Given the description of an element on the screen output the (x, y) to click on. 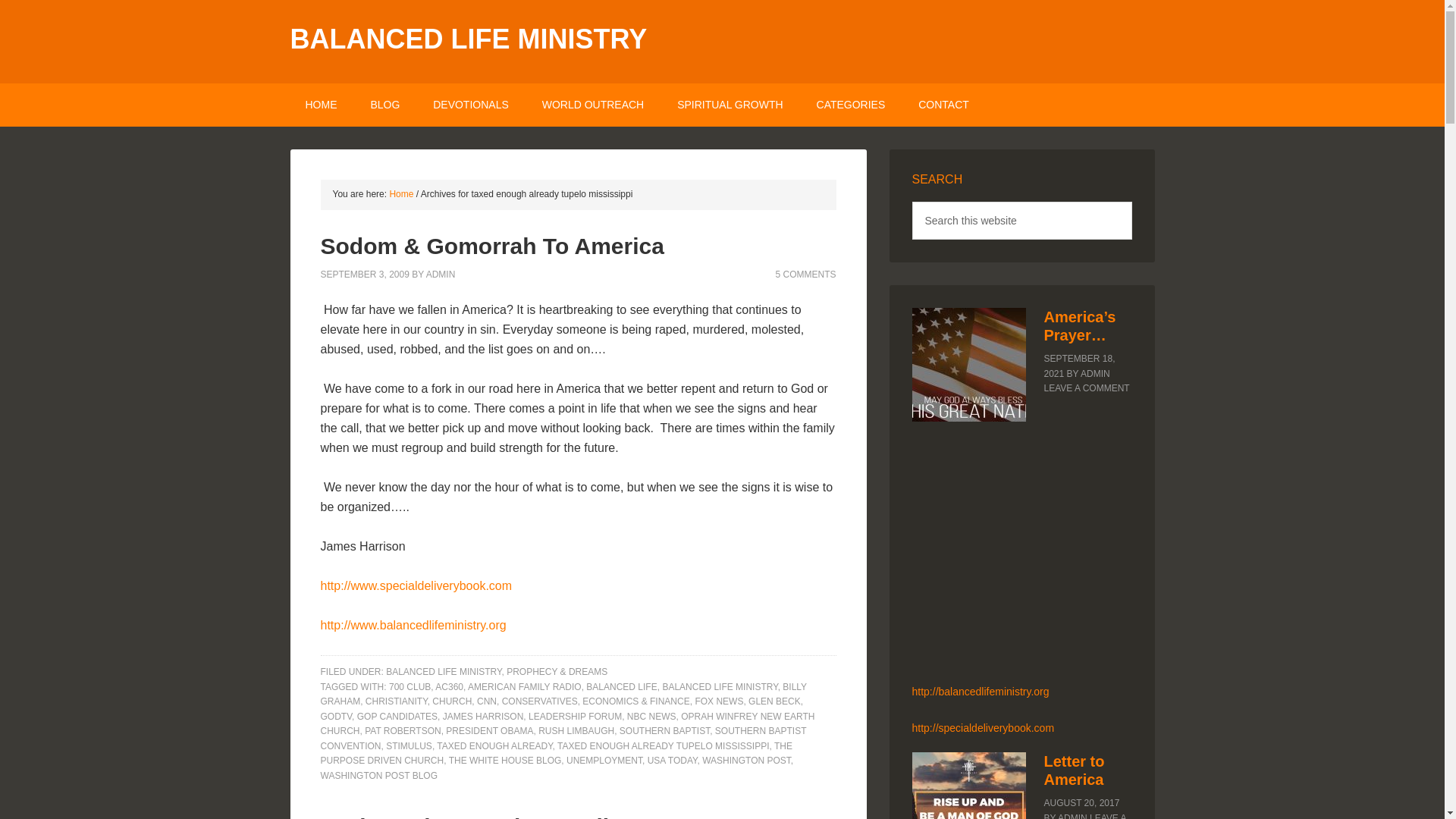
CONTACT (943, 104)
WORLD OUTREACH (593, 104)
CATEGORIES (851, 104)
BALANCED LIFE MINISTRY (442, 671)
Home (400, 194)
HOME (320, 104)
BLOG (384, 104)
SPIRITUAL GROWTH (729, 104)
ADMIN (440, 273)
DEVOTIONALS (470, 104)
BALANCED LIFE MINISTRY (467, 38)
5 COMMENTS (804, 273)
